Given the description of an element on the screen output the (x, y) to click on. 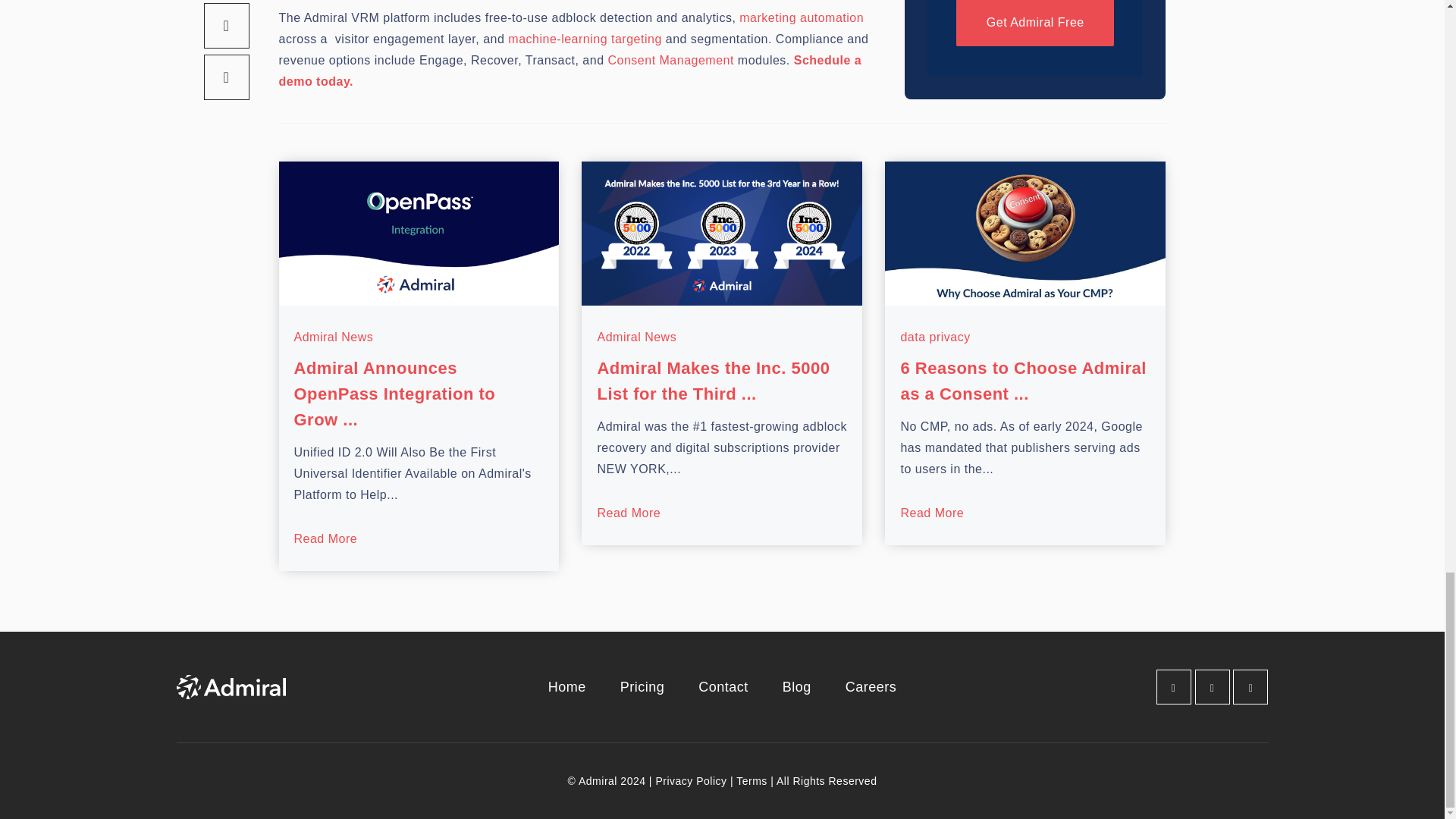
Footer-Logo (230, 686)
marketing automation (801, 17)
machine-learning targeting (584, 38)
Consent Management (670, 60)
Schedule a demo today. (570, 70)
